Given the description of an element on the screen output the (x, y) to click on. 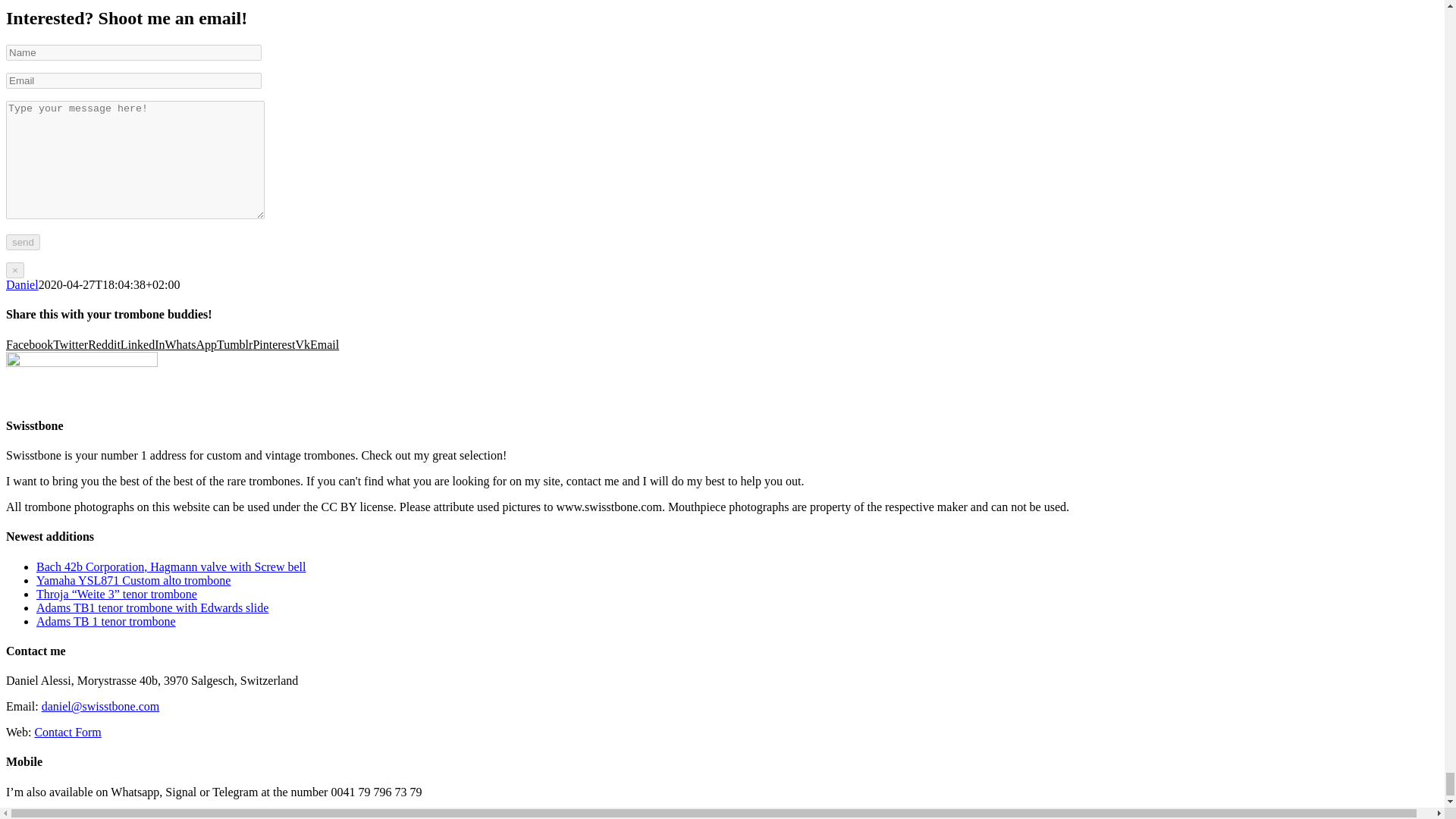
send (22, 242)
